Given the description of an element on the screen output the (x, y) to click on. 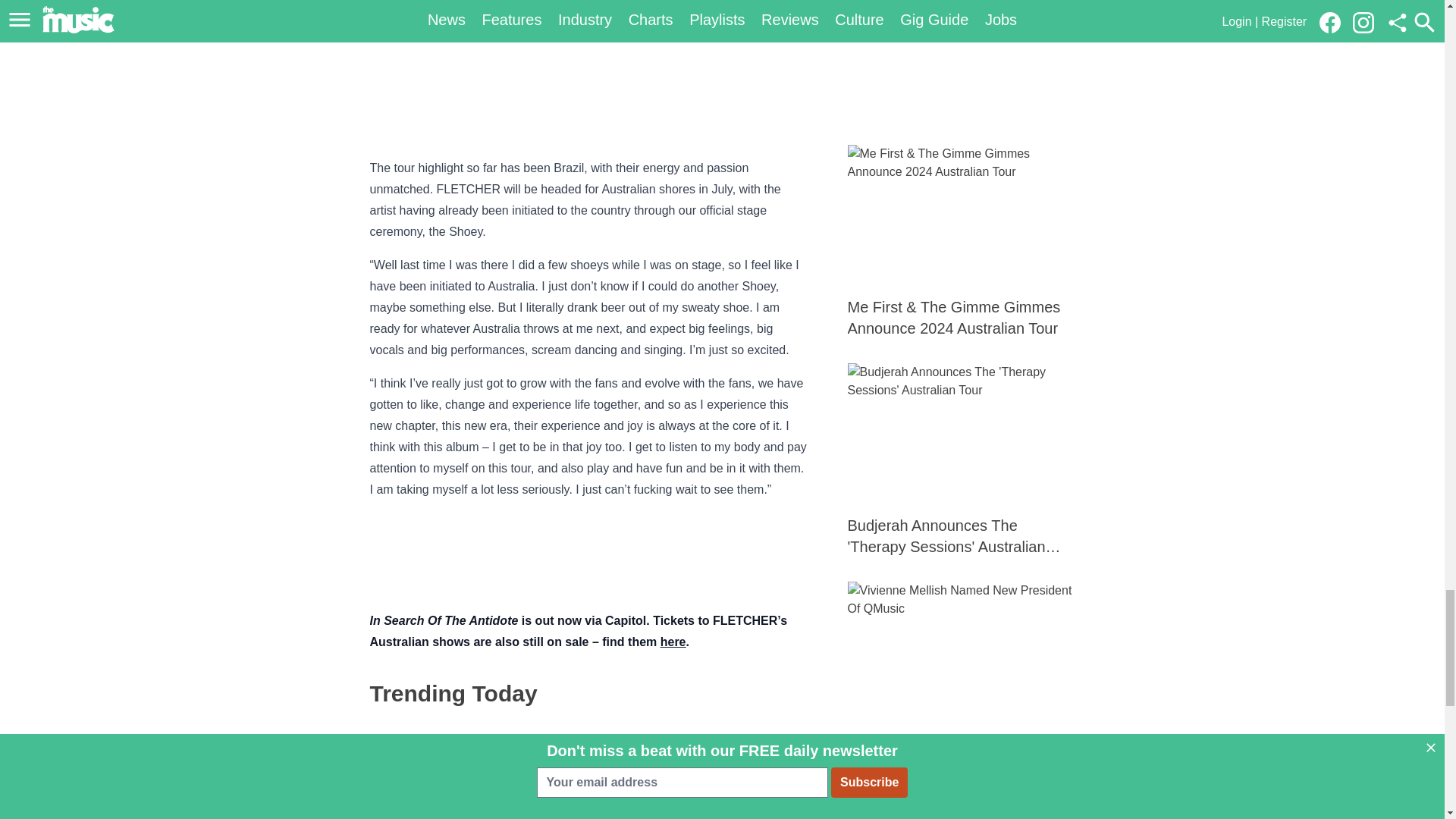
here (600, 760)
